Given the description of an element on the screen output the (x, y) to click on. 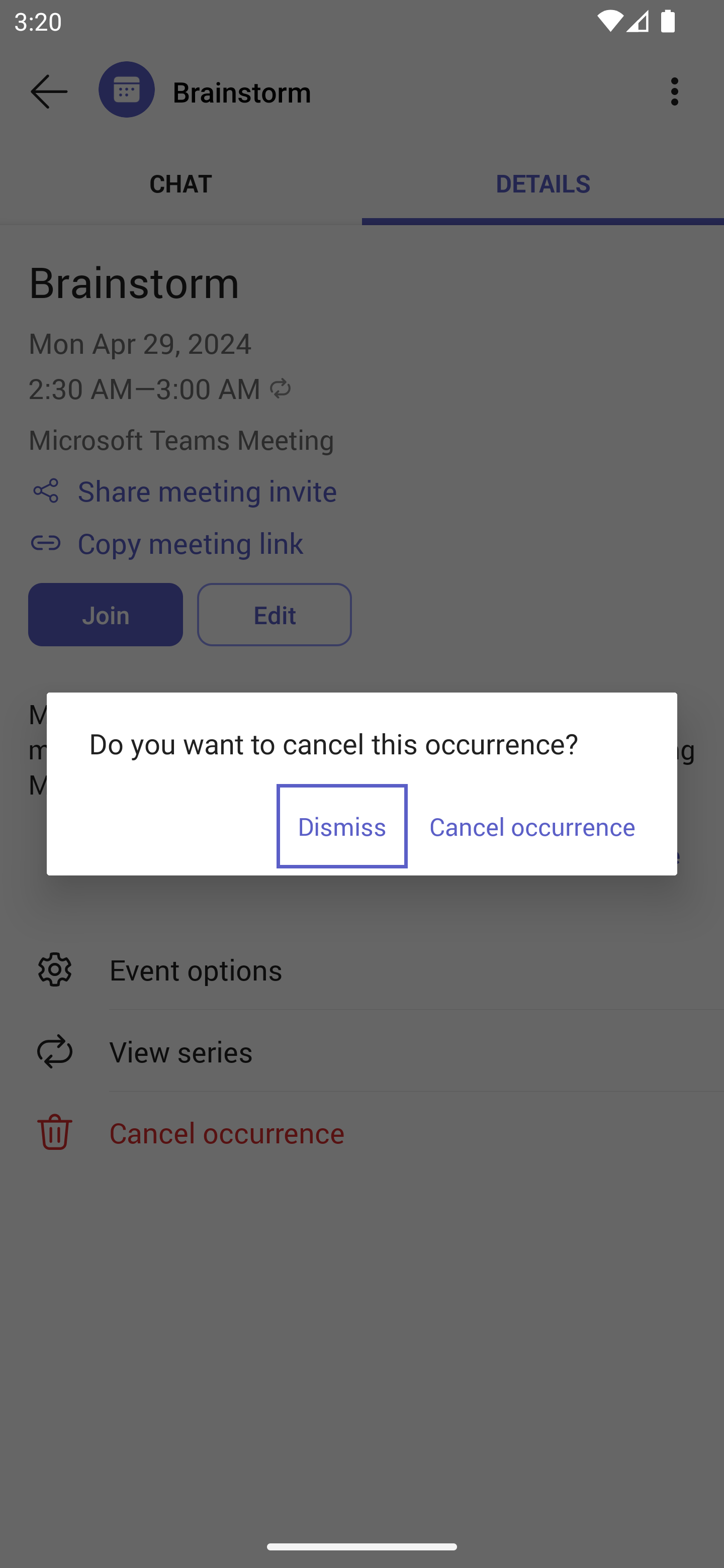
Dismiss (341, 826)
Cancel occurrence (531, 826)
